Given the description of an element on the screen output the (x, y) to click on. 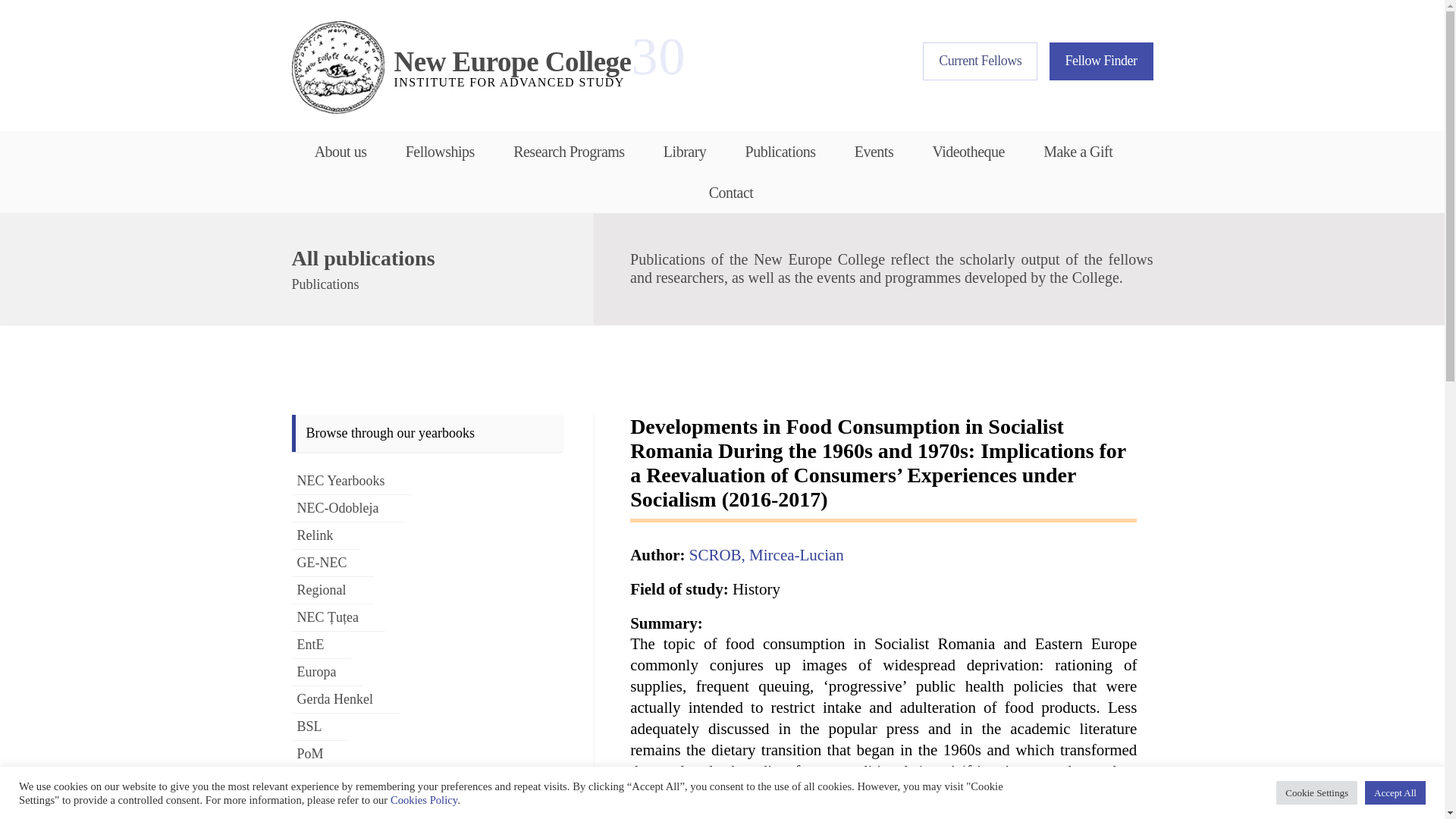
Library (684, 151)
Current Fellows (979, 61)
Publications (780, 151)
Research Programs (568, 151)
About us (346, 151)
Fellow Finder (460, 67)
Fellowships (1101, 61)
